Given the description of an element on the screen output the (x, y) to click on. 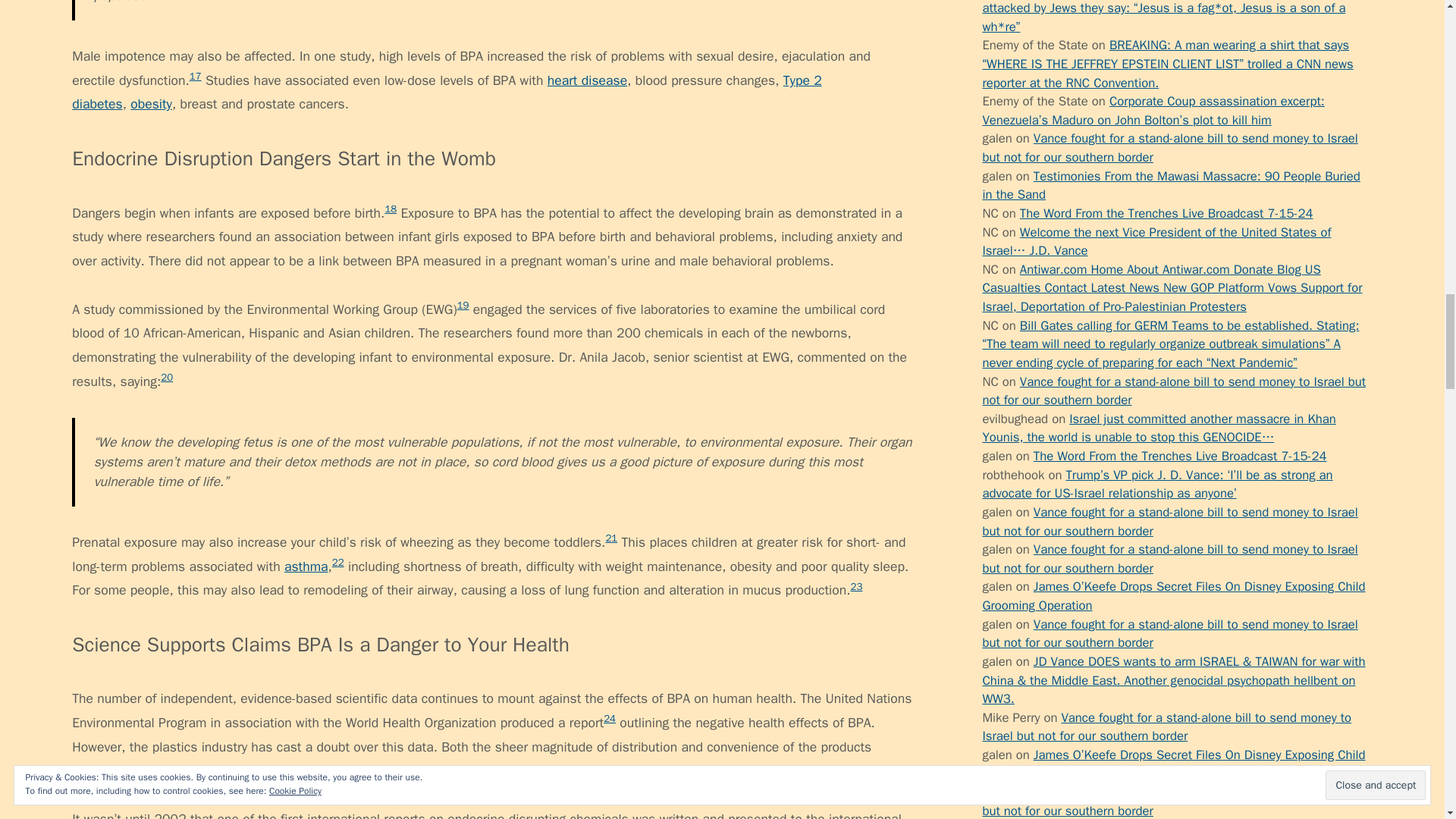
porno (997, 26)
